Given the description of an element on the screen output the (x, y) to click on. 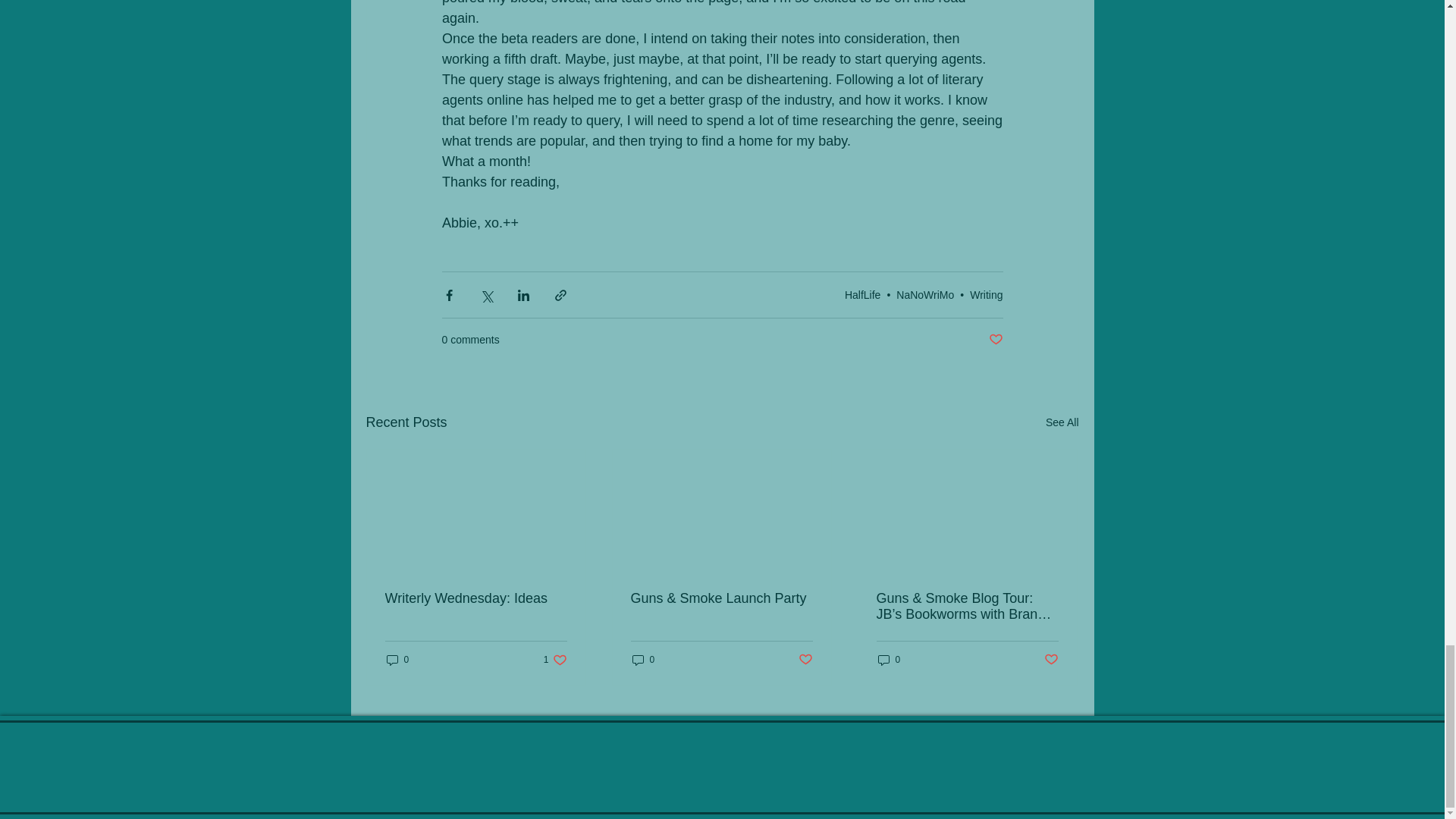
Writerly Wednesday: Ideas (476, 598)
Post not marked as liked (995, 340)
0 (397, 658)
HalfLife (862, 294)
NaNoWriMo (924, 294)
See All (1061, 422)
Writing (986, 294)
